Given the description of an element on the screen output the (x, y) to click on. 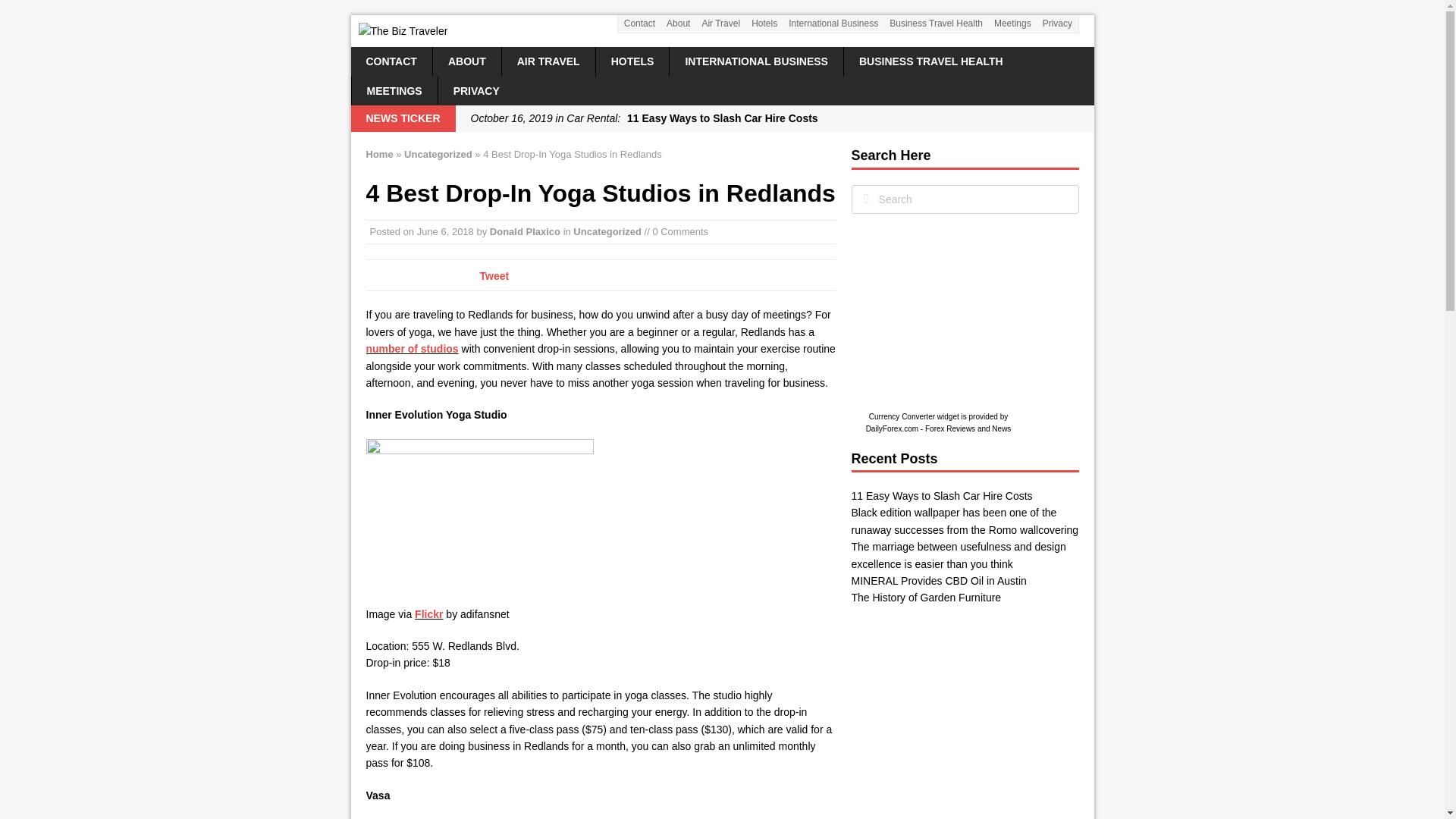
The Biz Traveler (721, 30)
AIR TRAVEL (548, 61)
DailyForex.com (892, 429)
International Business (833, 23)
Donald Plaxico (524, 231)
HOTELS (632, 61)
Business Travel Health (935, 23)
Privacy (1056, 23)
CONTACT (390, 61)
INTERNATIONAL BUSINESS (756, 61)
